Given the description of an element on the screen output the (x, y) to click on. 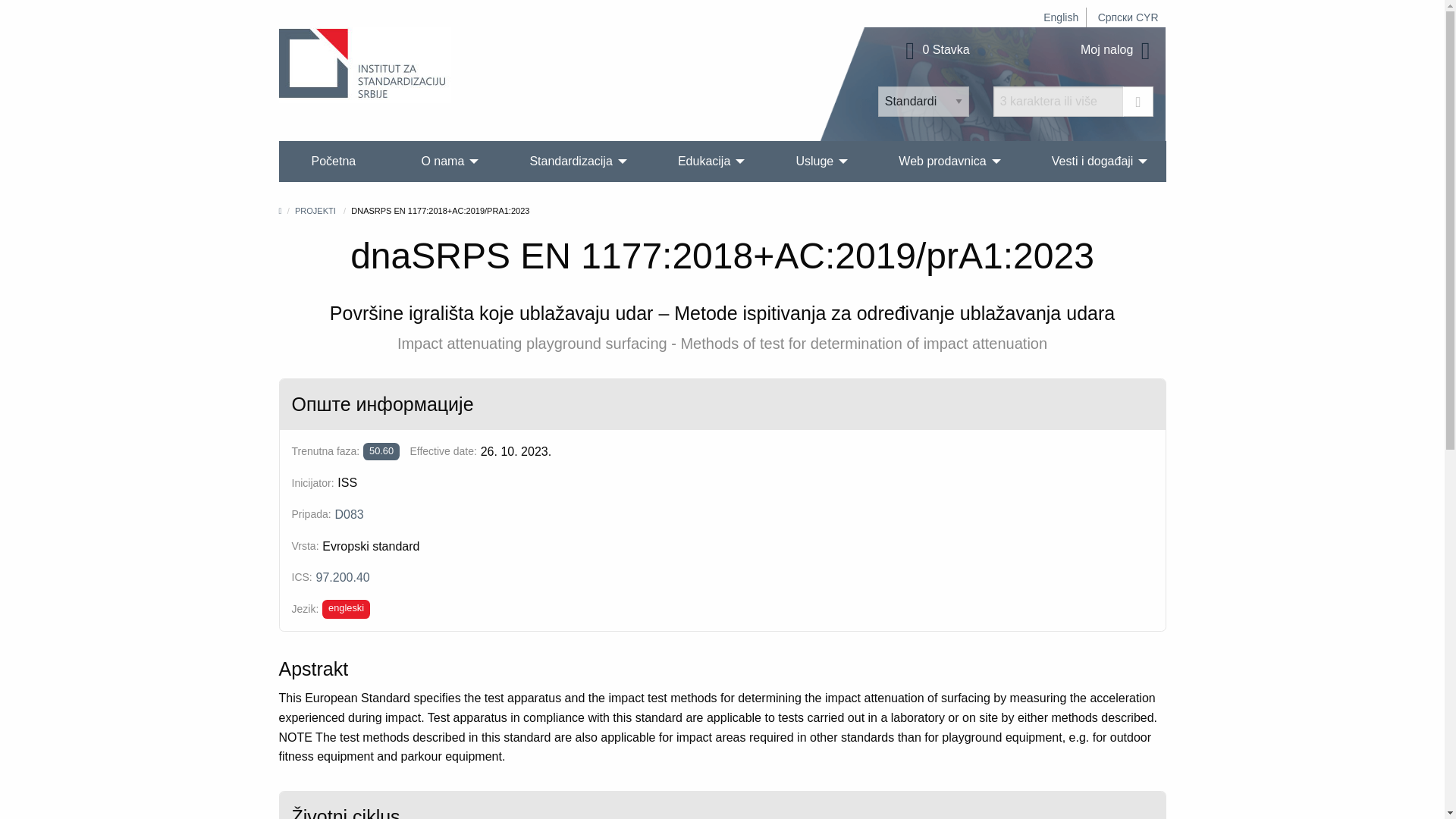
O nama (442, 160)
Moj nalog (1117, 49)
Shopping cart (935, 49)
English (1060, 17)
Moj nalog (1117, 49)
0 Stavka (935, 49)
